Given the description of an element on the screen output the (x, y) to click on. 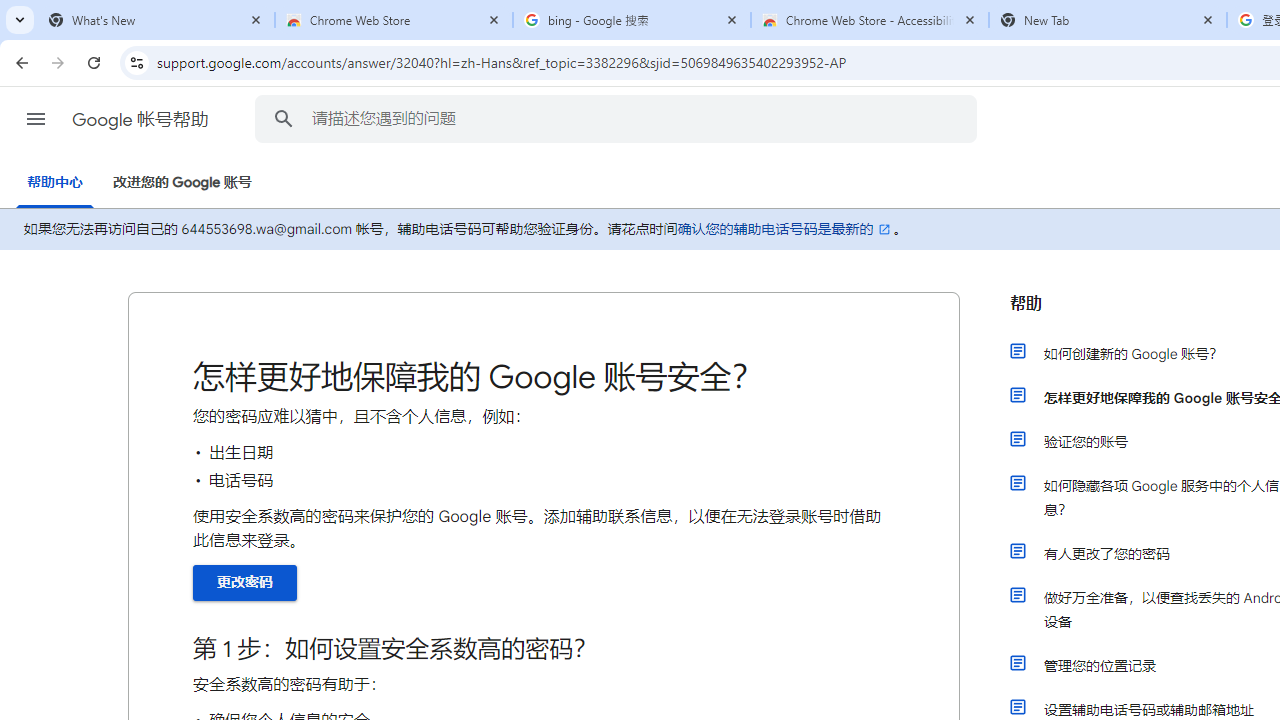
What's New (156, 20)
Chrome Web Store (394, 20)
New Tab (1108, 20)
